Given the description of an element on the screen output the (x, y) to click on. 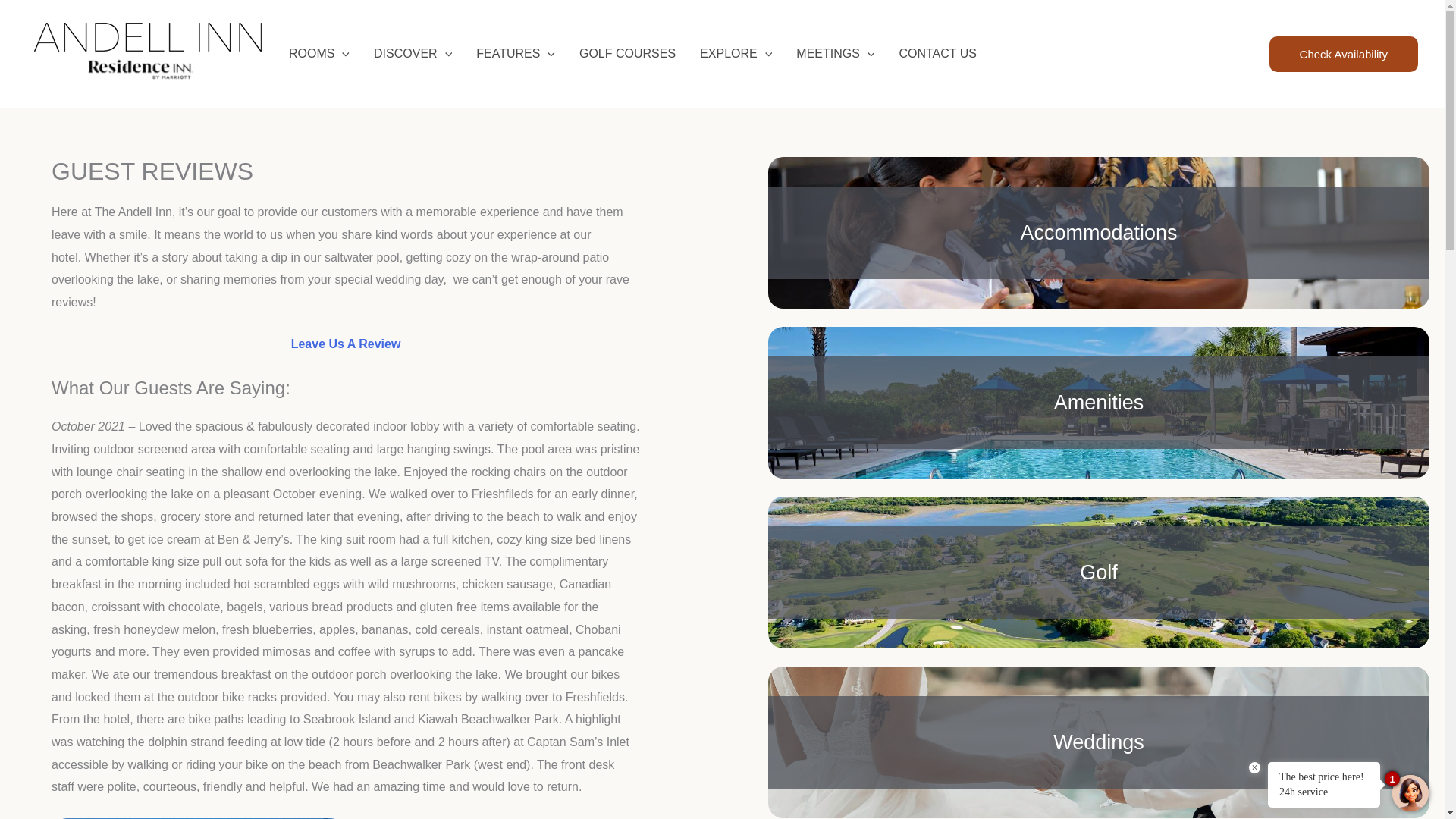
GOLF COURSES (627, 53)
MEETINGS (835, 53)
ROOMS (318, 53)
CONTACT US (937, 53)
EXPLORE (735, 53)
Check Availability (1343, 54)
DISCOVER (412, 53)
FEATURES (515, 53)
